Given the description of an element on the screen output the (x, y) to click on. 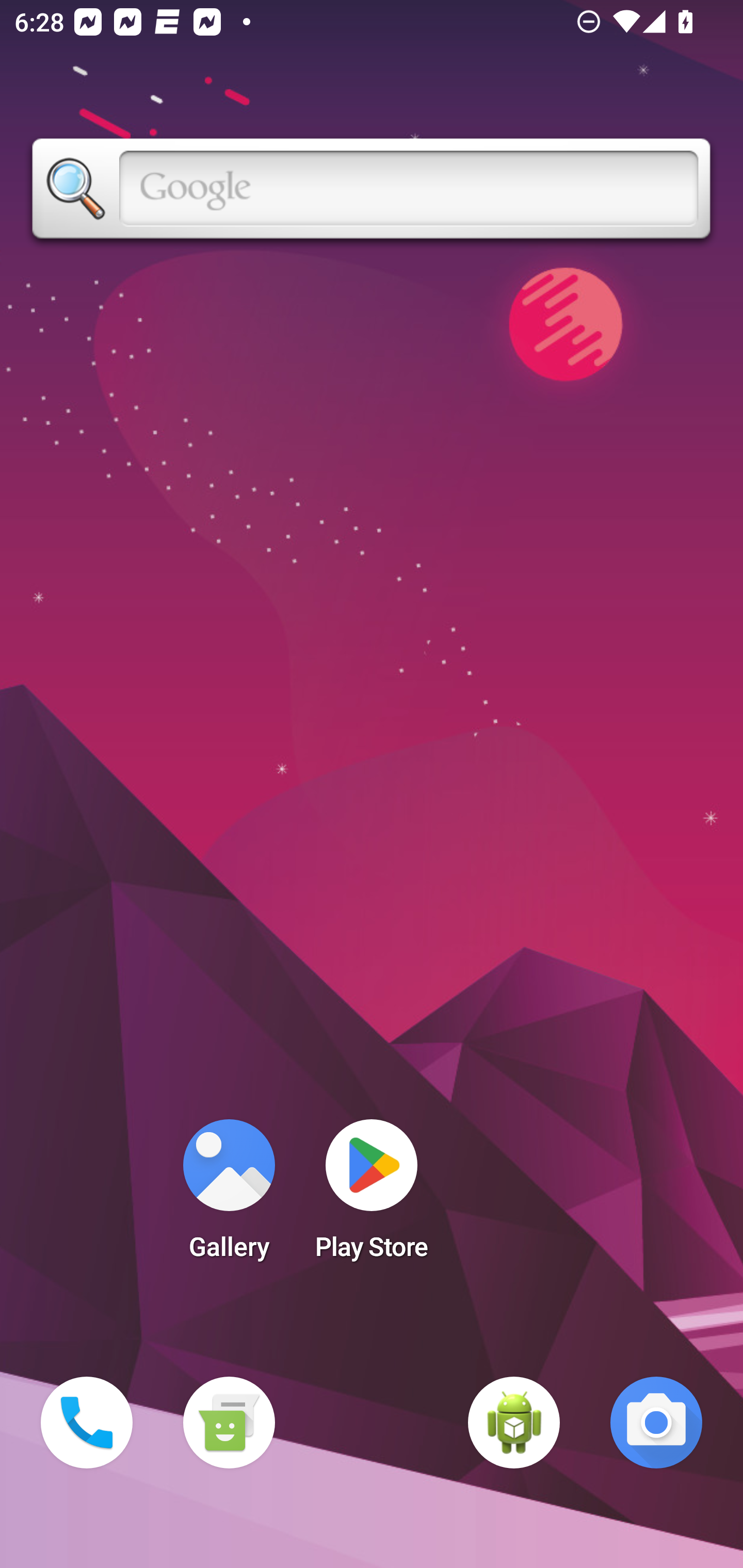
Gallery (228, 1195)
Play Store (371, 1195)
Phone (86, 1422)
Messaging (228, 1422)
WebView Browser Tester (513, 1422)
Camera (656, 1422)
